Given the description of an element on the screen output the (x, y) to click on. 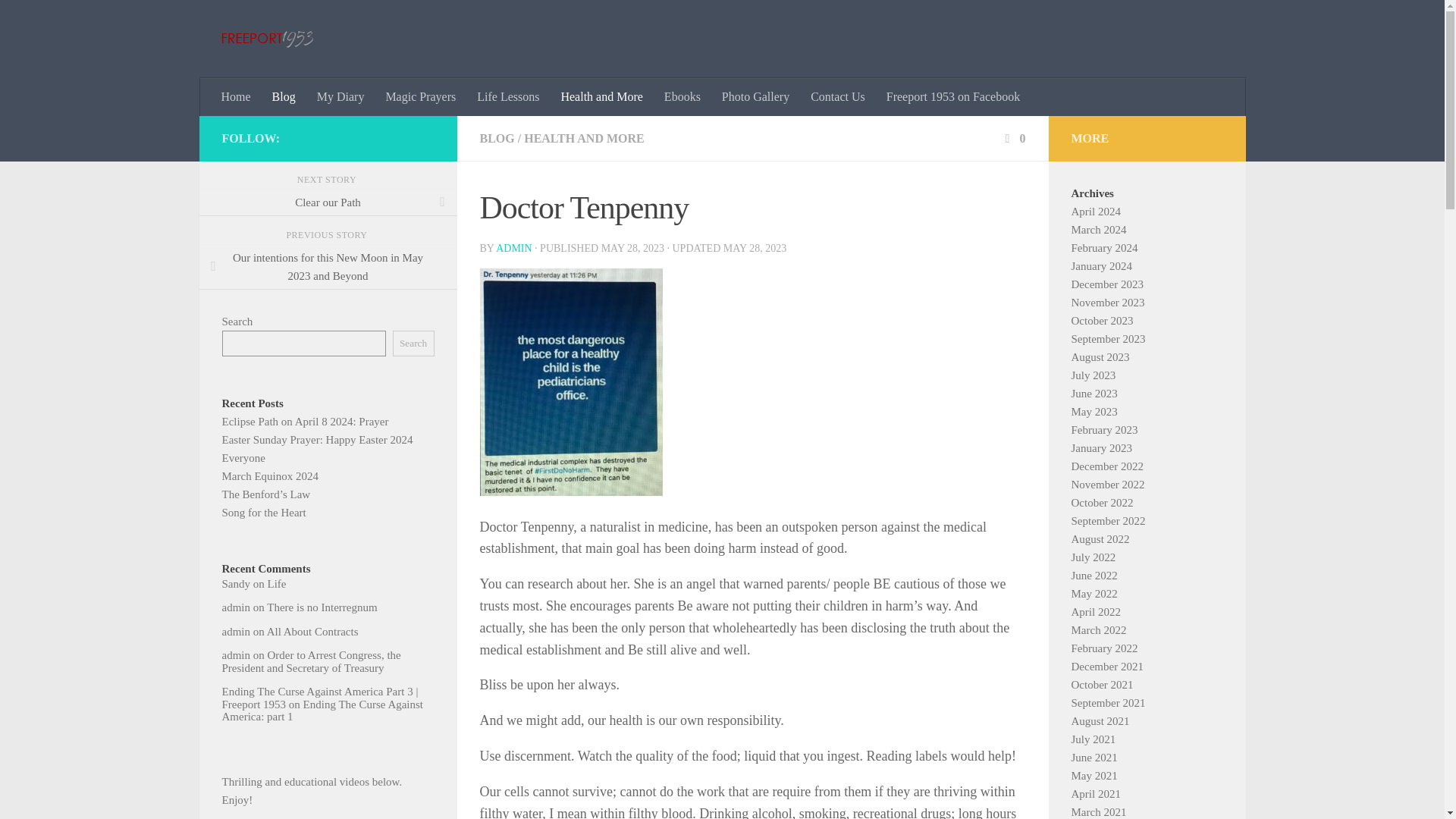
Freeport 1953 on Facebook (953, 96)
Blog (283, 96)
BLOG (496, 137)
Skip to content (59, 20)
Photo Gallery (755, 96)
Magic Prayers (419, 96)
Ebooks (682, 96)
Home (236, 96)
0 (1013, 137)
Health and More (601, 96)
Contact Us (837, 96)
Posts by admin (513, 247)
HEALTH AND MORE (584, 137)
My Diary (340, 96)
ADMIN (513, 247)
